Given the description of an element on the screen output the (x, y) to click on. 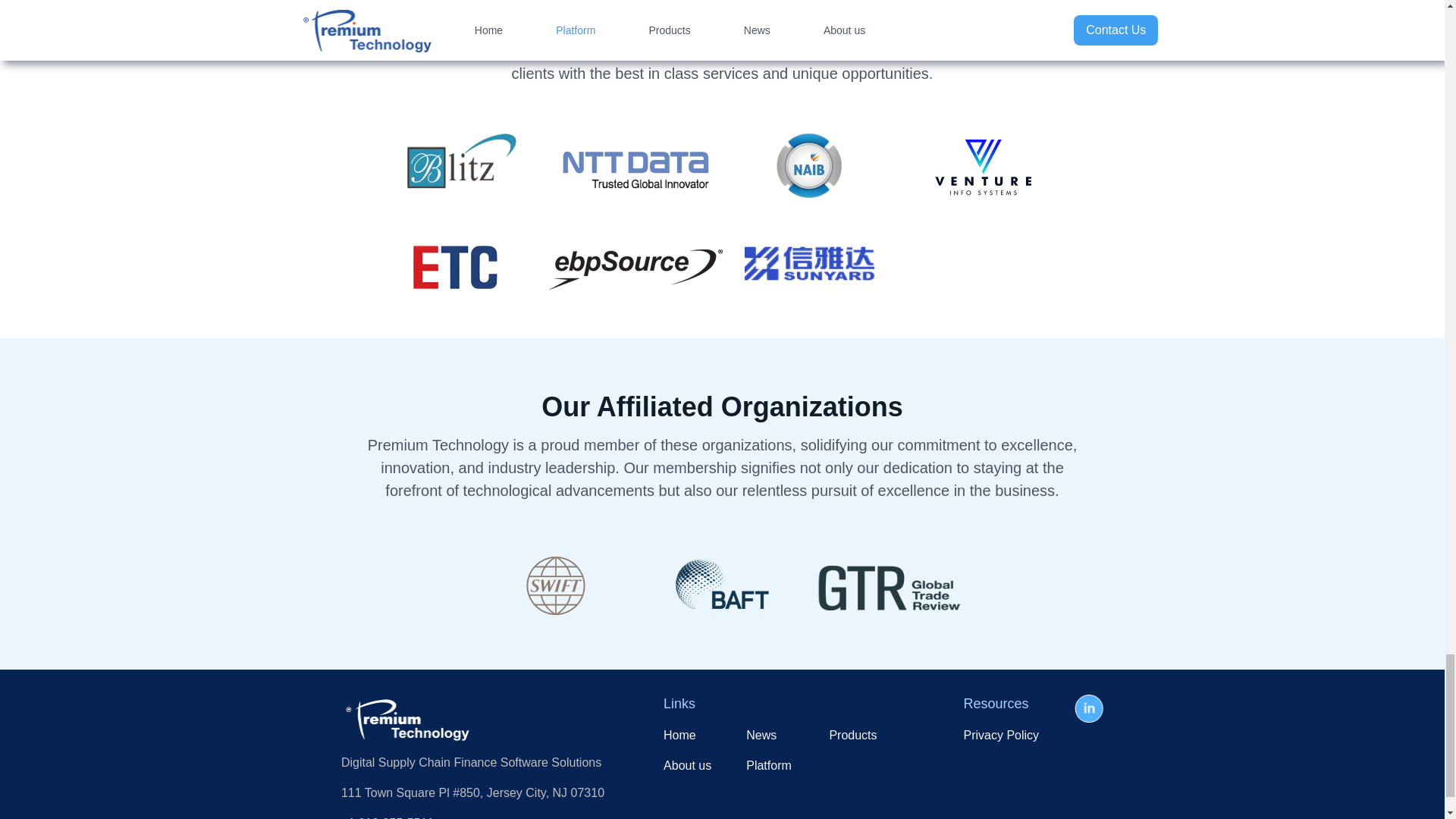
About us (687, 765)
Home (687, 735)
News (769, 735)
Products (852, 735)
Platform (769, 765)
Privacy Policy (1001, 735)
